Given the description of an element on the screen output the (x, y) to click on. 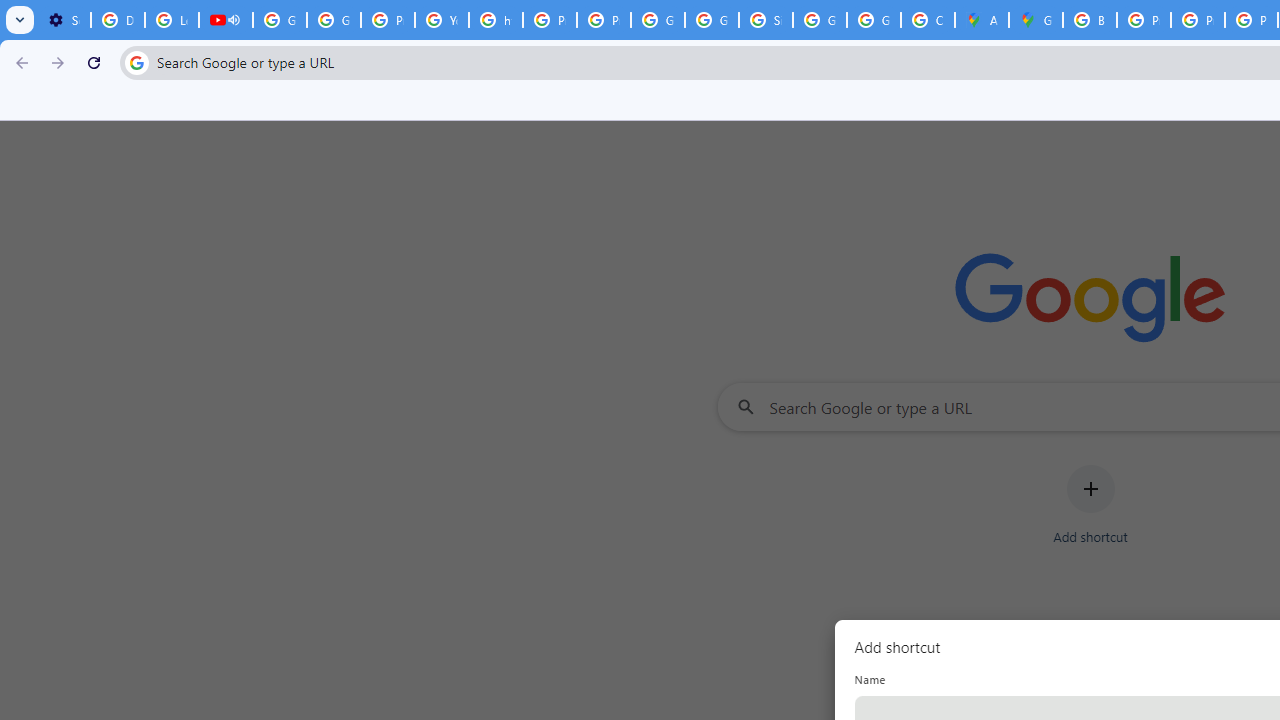
Learn how to find your photos - Google Photos Help (171, 20)
https://scholar.google.com/ (495, 20)
Privacy Help Center - Policies Help (1197, 20)
Privacy Help Center - Policies Help (1144, 20)
